Given the description of an element on the screen output the (x, y) to click on. 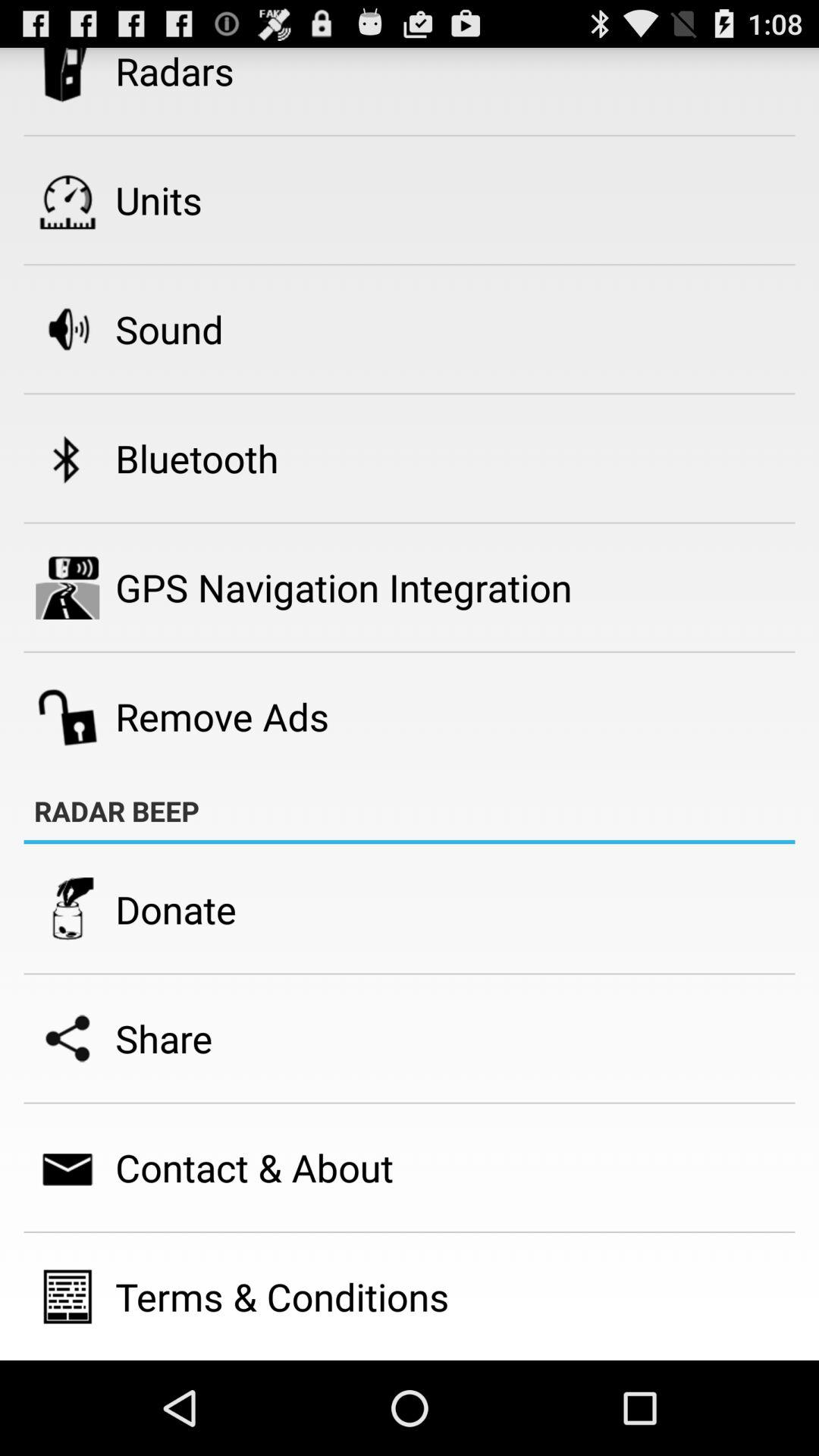
scroll to the contact & about (254, 1167)
